Given the description of an element on the screen output the (x, y) to click on. 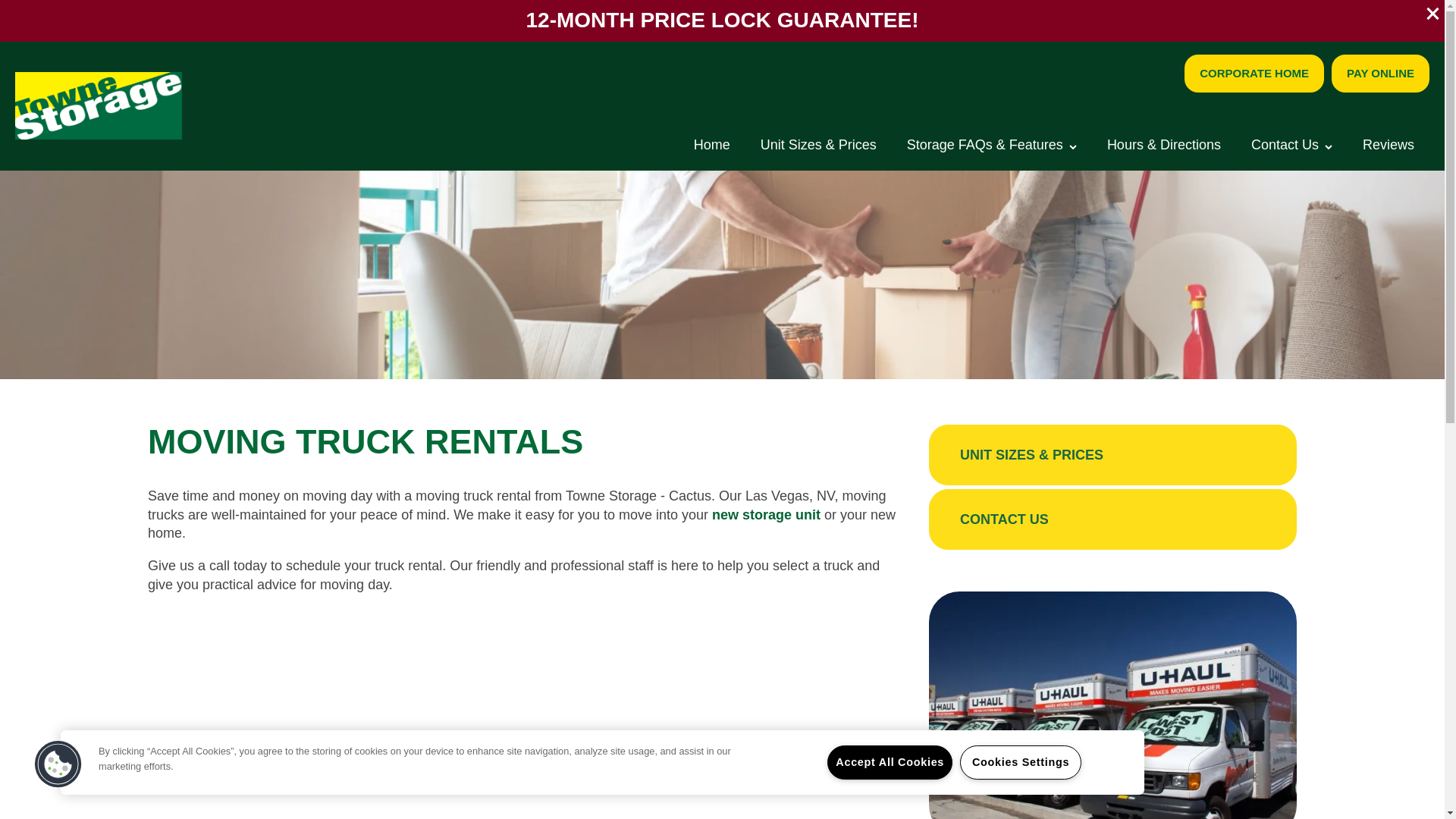
12-MONTH PRICE LOCK GUARANTEE! (721, 22)
new storage unit (766, 514)
Contact Us (1292, 143)
CORPORATE HOME (1254, 73)
Home (711, 143)
PAY ONLINE (1380, 73)
Forms (1311, 145)
Reviews (1388, 143)
Packing Supplies (991, 145)
Cookies Button (57, 764)
CONTACT US (1112, 518)
